Given the description of an element on the screen output the (x, y) to click on. 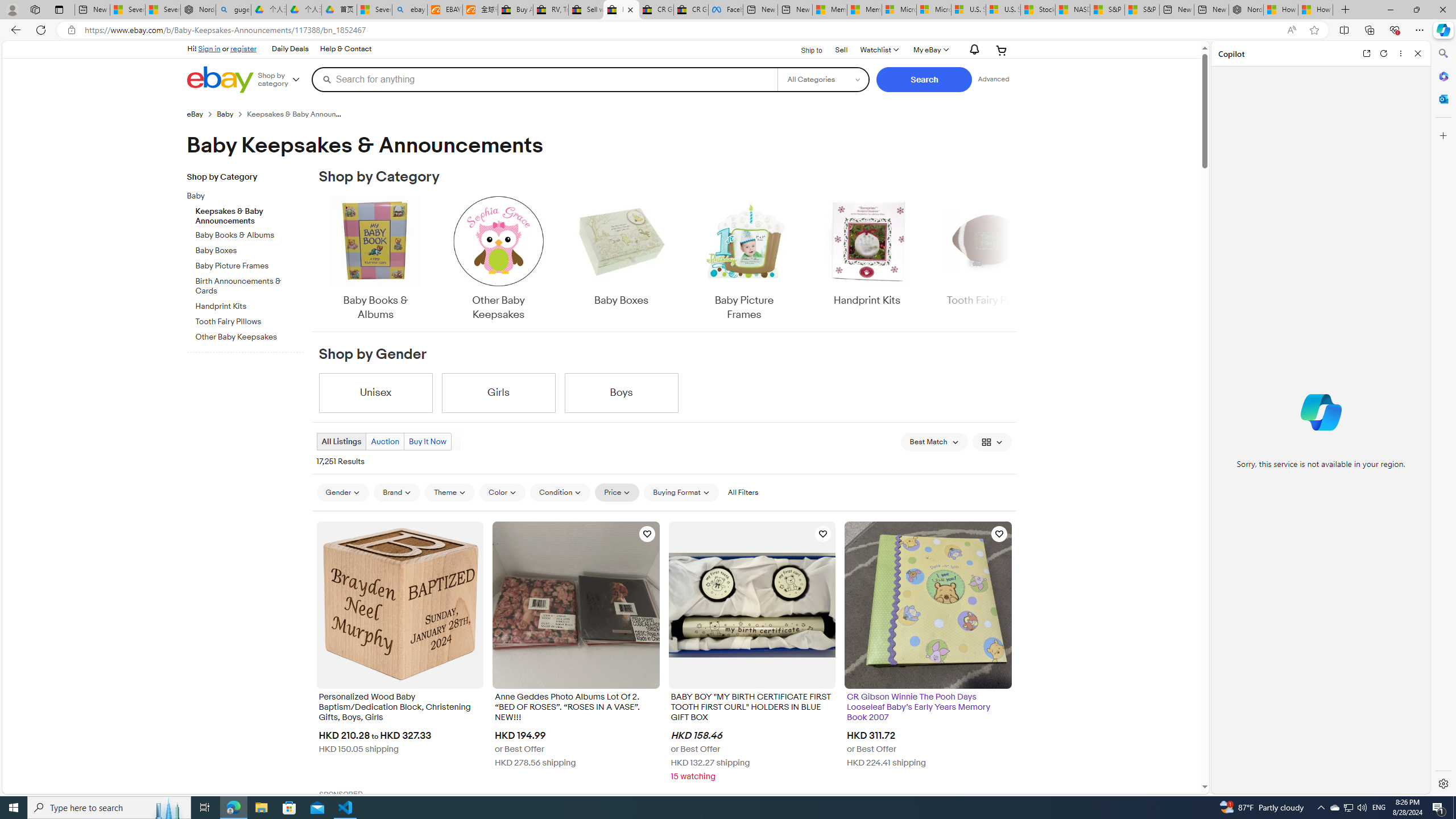
Price (617, 492)
Buy It Now (427, 441)
Baby (240, 196)
Sell (841, 49)
Address and search bar (680, 29)
Girls (498, 392)
Ship to (804, 50)
ebay - Search (409, 9)
Theme (450, 492)
Outlook (1442, 98)
